Given the description of an element on the screen output the (x, y) to click on. 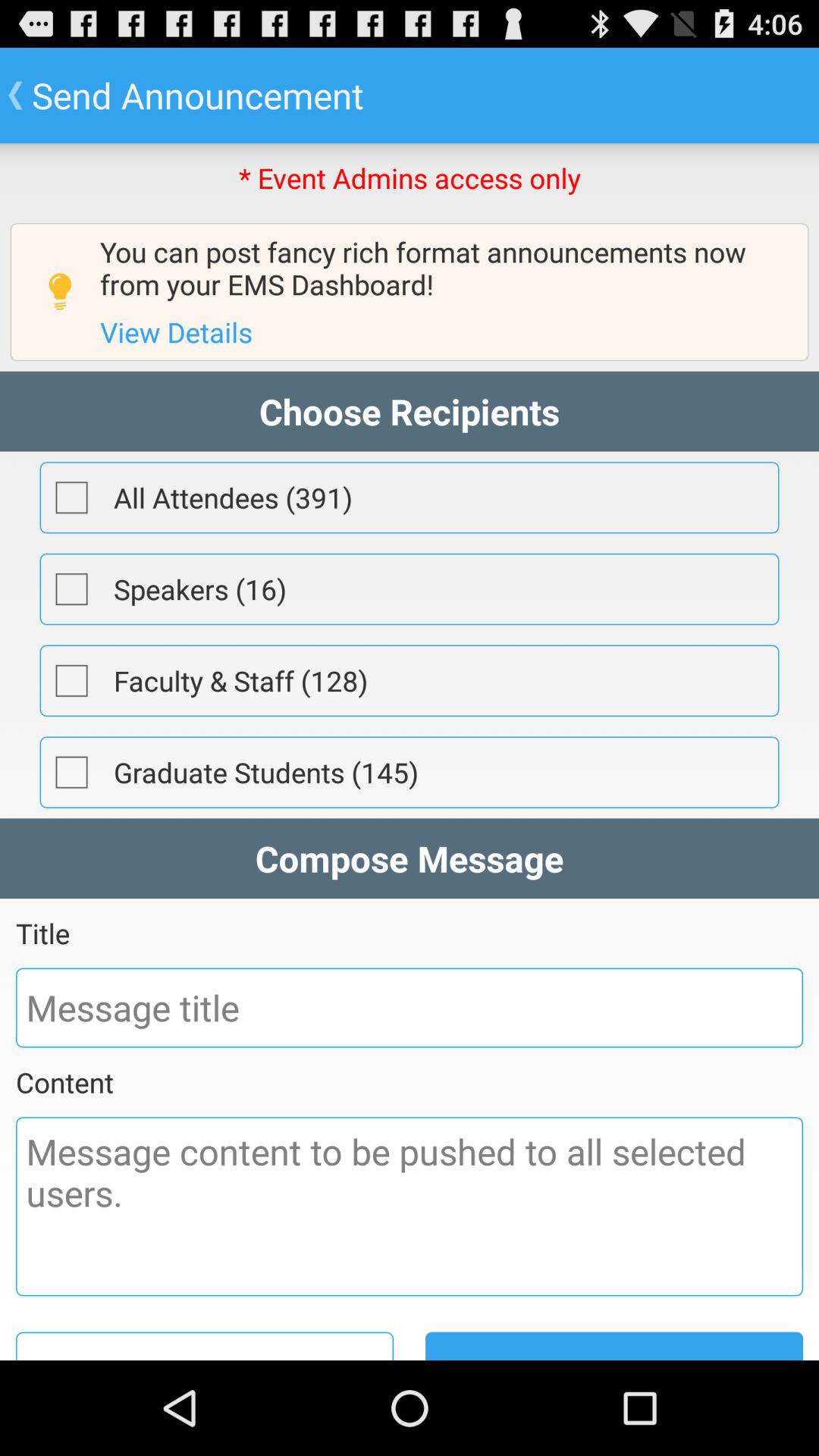
checkbox toggle (71, 589)
